Given the description of an element on the screen output the (x, y) to click on. 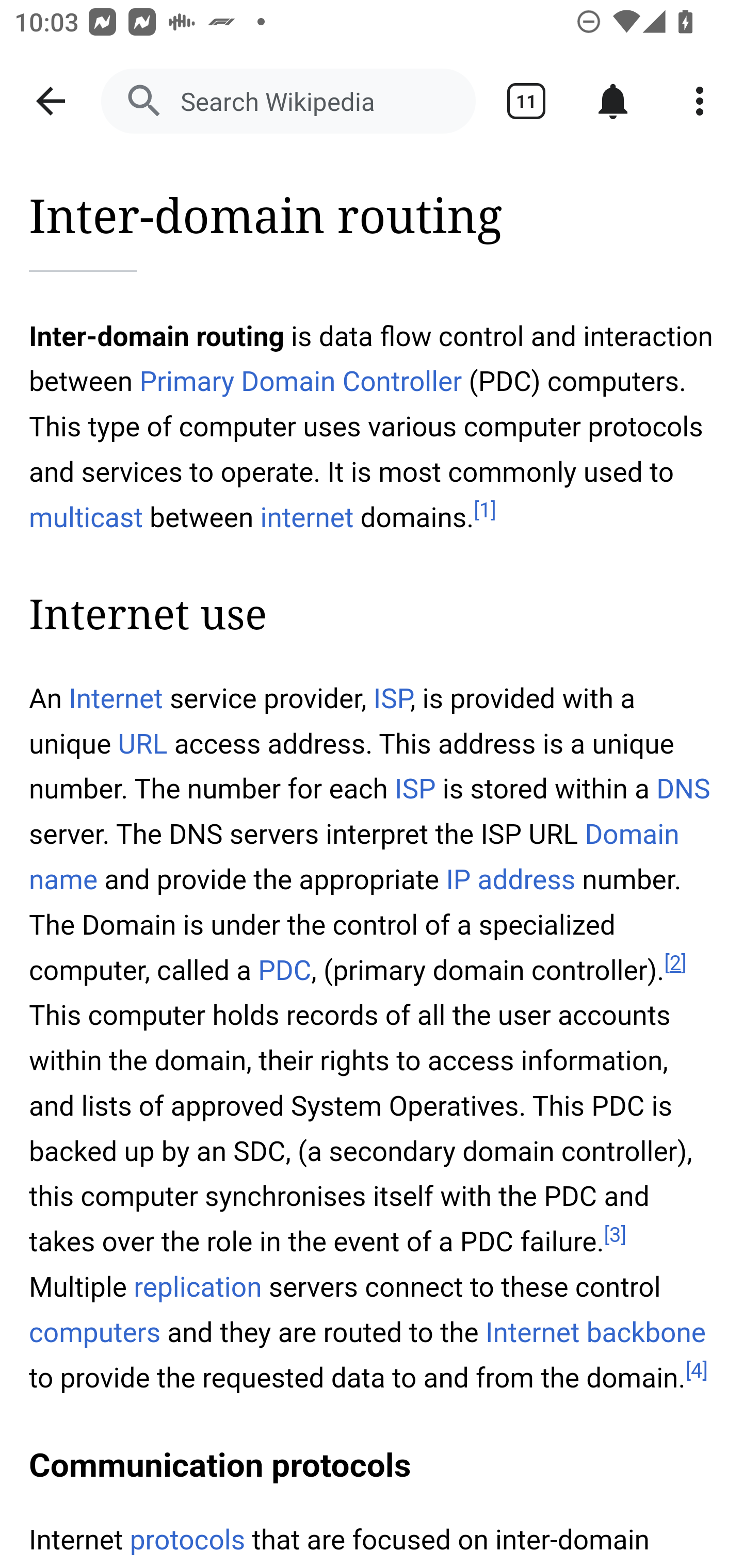
Show tabs 11 (525, 100)
Notifications (612, 100)
Navigate up (50, 101)
More options (699, 101)
Search Wikipedia (288, 100)
Primary Domain Controller (300, 381)
[] [ 1 ] (484, 510)
multicast (86, 517)
internet (307, 517)
Internet (116, 699)
ISP (391, 699)
URL (142, 744)
ISP (414, 789)
DNS (683, 789)
Domain name (354, 856)
IP address (509, 879)
[] [ 2 ] (675, 963)
PDC (284, 970)
[] [ 3 ] (615, 1233)
replication (198, 1287)
computers (95, 1332)
Internet backbone (595, 1332)
[] [ 4 ] (696, 1370)
protocols (186, 1540)
